Given the description of an element on the screen output the (x, y) to click on. 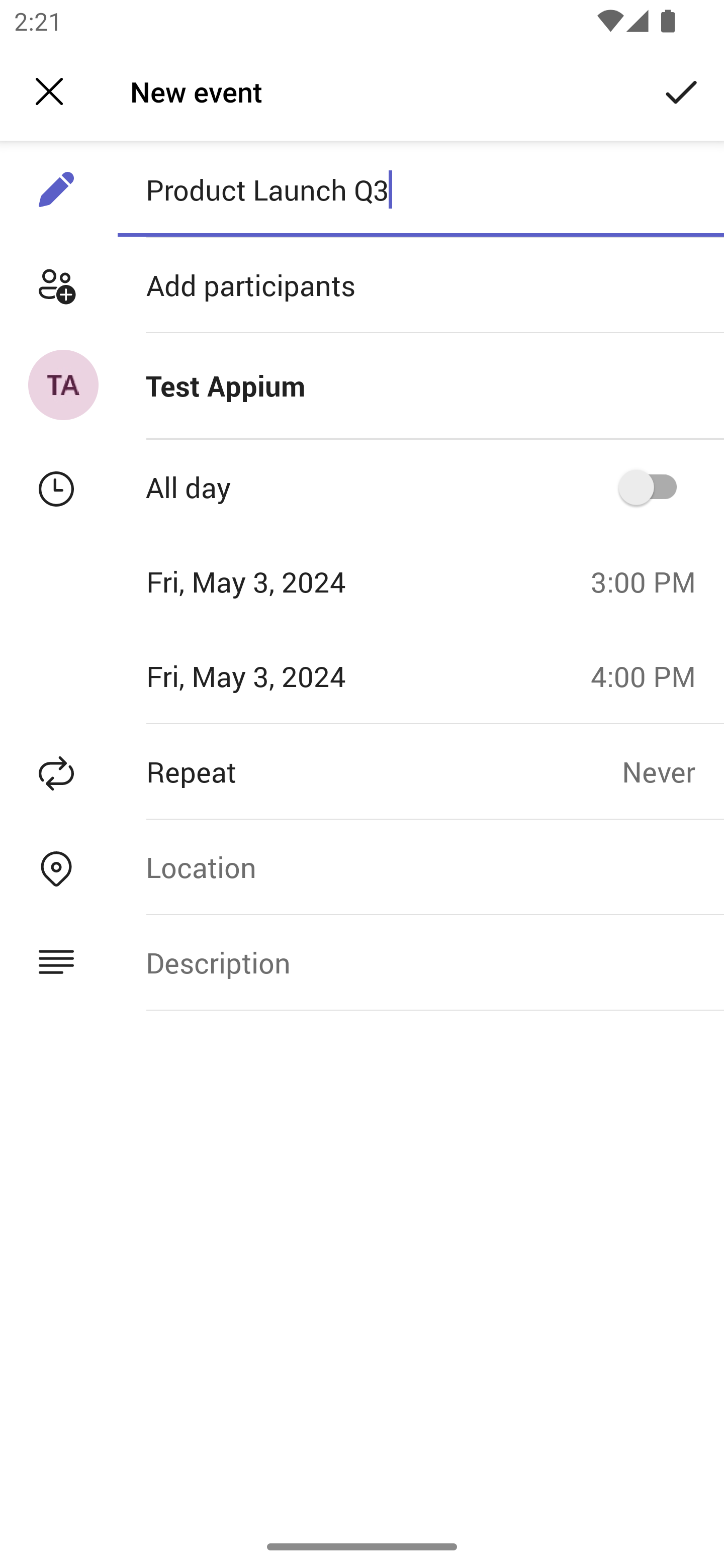
Back (49, 91)
Send invite (681, 90)
Product Launch Q3 (420, 189)
Add participants Add participants option (362, 285)
All day (654, 486)
Fri, May 3, 2024 Starts Friday May 03, 2024 (288, 581)
3:00 PM Start time 3:00 PM (650, 581)
Fri, May 3, 2024 Ends Friday May 03, 2024 (288, 675)
4:00 PM End time 4:00 PM (650, 675)
Repeat (310, 771)
Never Repeat Never (672, 771)
Location (420, 867)
Description (420, 962)
